Given the description of an element on the screen output the (x, y) to click on. 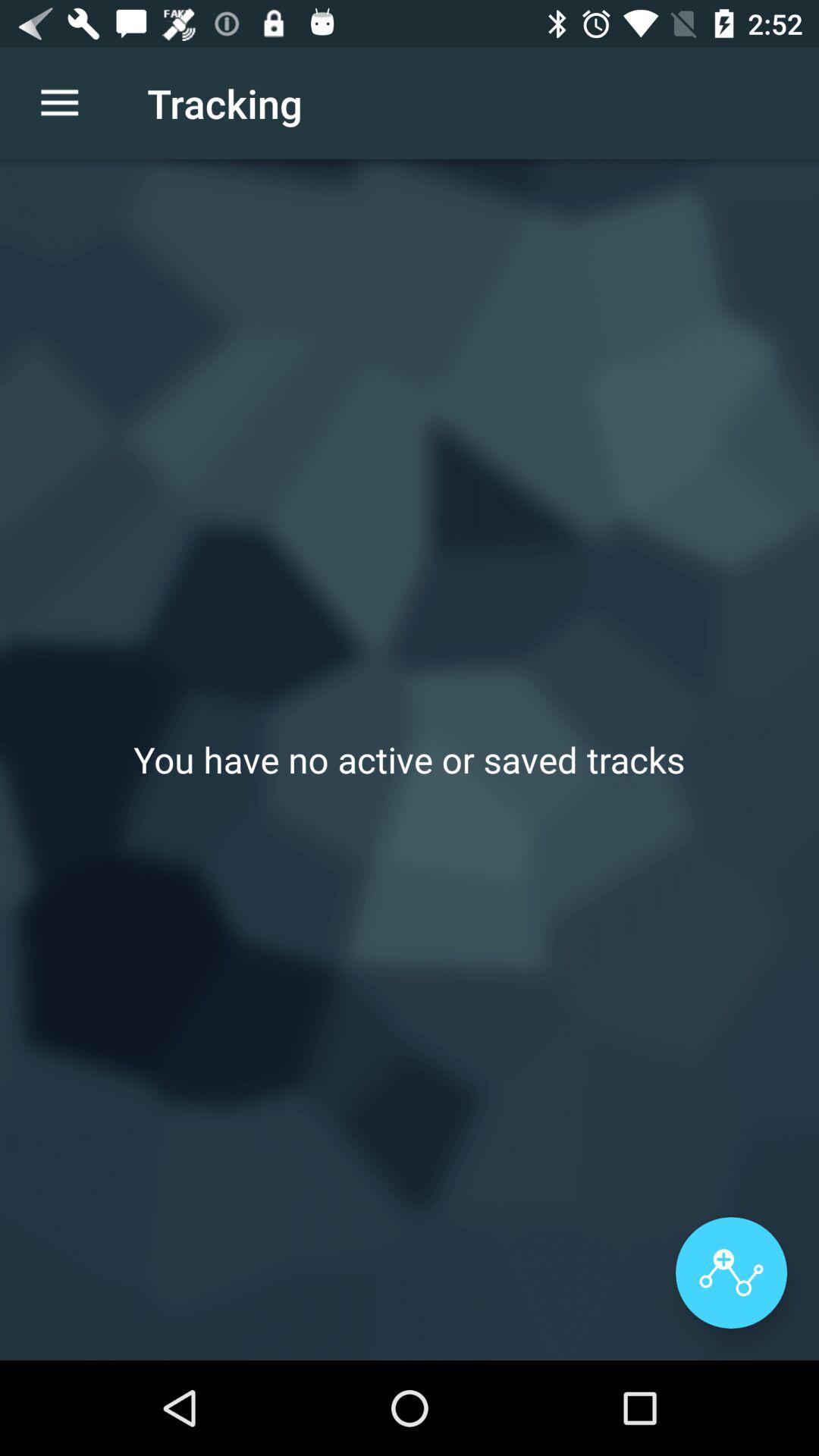
open item to the left of the tracking (59, 103)
